Given the description of an element on the screen output the (x, y) to click on. 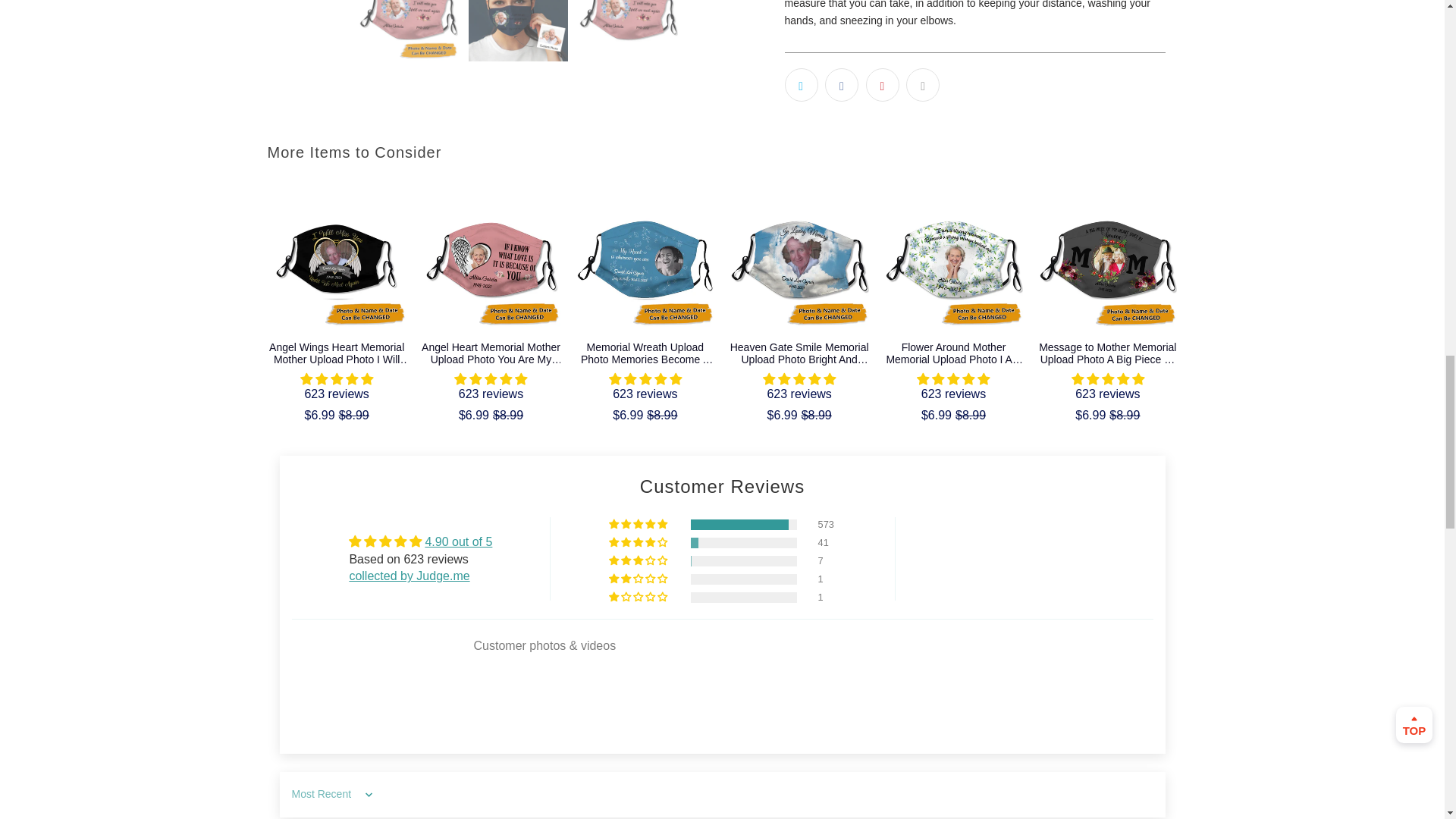
Share this on Twitter (800, 84)
Email this to a friend (922, 84)
Share this on Pinterest (882, 84)
Share this on Facebook (842, 84)
